Given the description of an element on the screen output the (x, y) to click on. 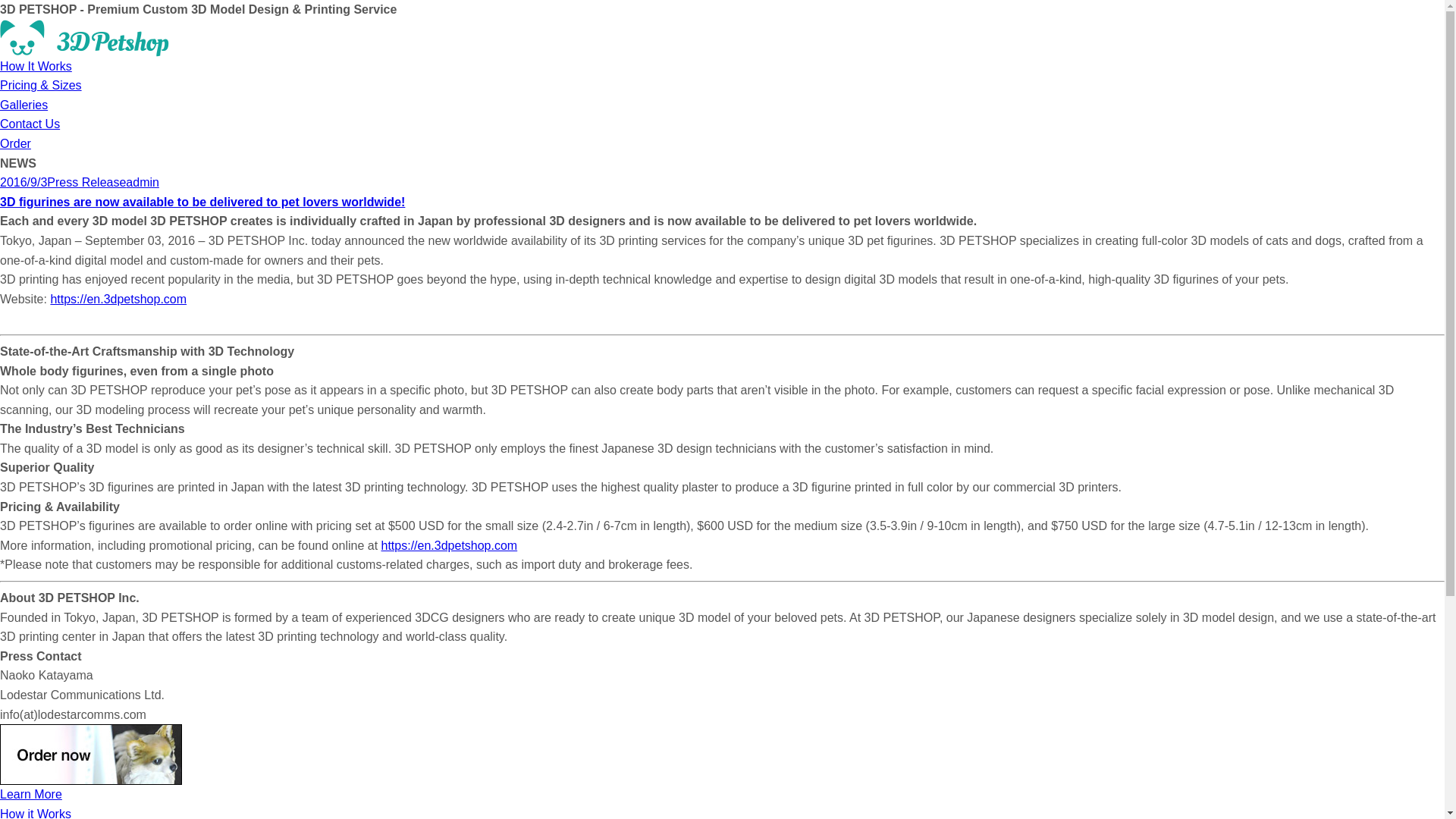
Press Release Element type: text (86, 181)
Order Element type: text (15, 143)
How It Works Element type: text (36, 65)
Pricing & Sizes Element type: text (40, 84)
Galleries Element type: text (23, 104)
https://en.3dpetshop.com Element type: text (449, 545)
Contact Us Element type: text (29, 123)
2016/9/3 Element type: text (23, 181)
https://en.3dpetshop.com Element type: text (118, 298)
Send Element type: text (17, 7)
admin Element type: text (142, 181)
Learn More Element type: text (31, 793)
